Given the description of an element on the screen output the (x, y) to click on. 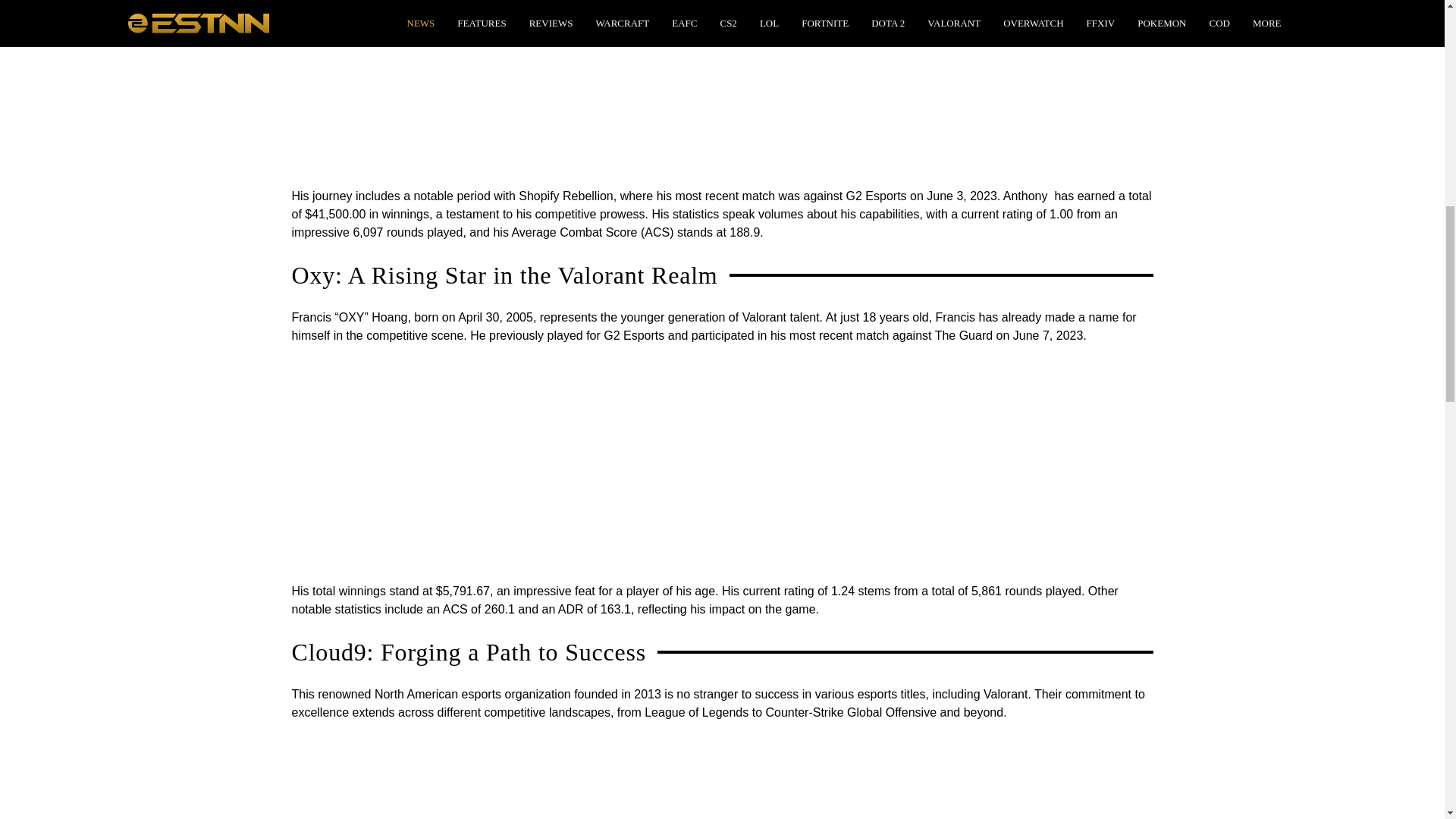
V1 VANITY HIGHLIGHTS IN VCT MASTERS ICELAND (480, 87)
